Given the description of an element on the screen output the (x, y) to click on. 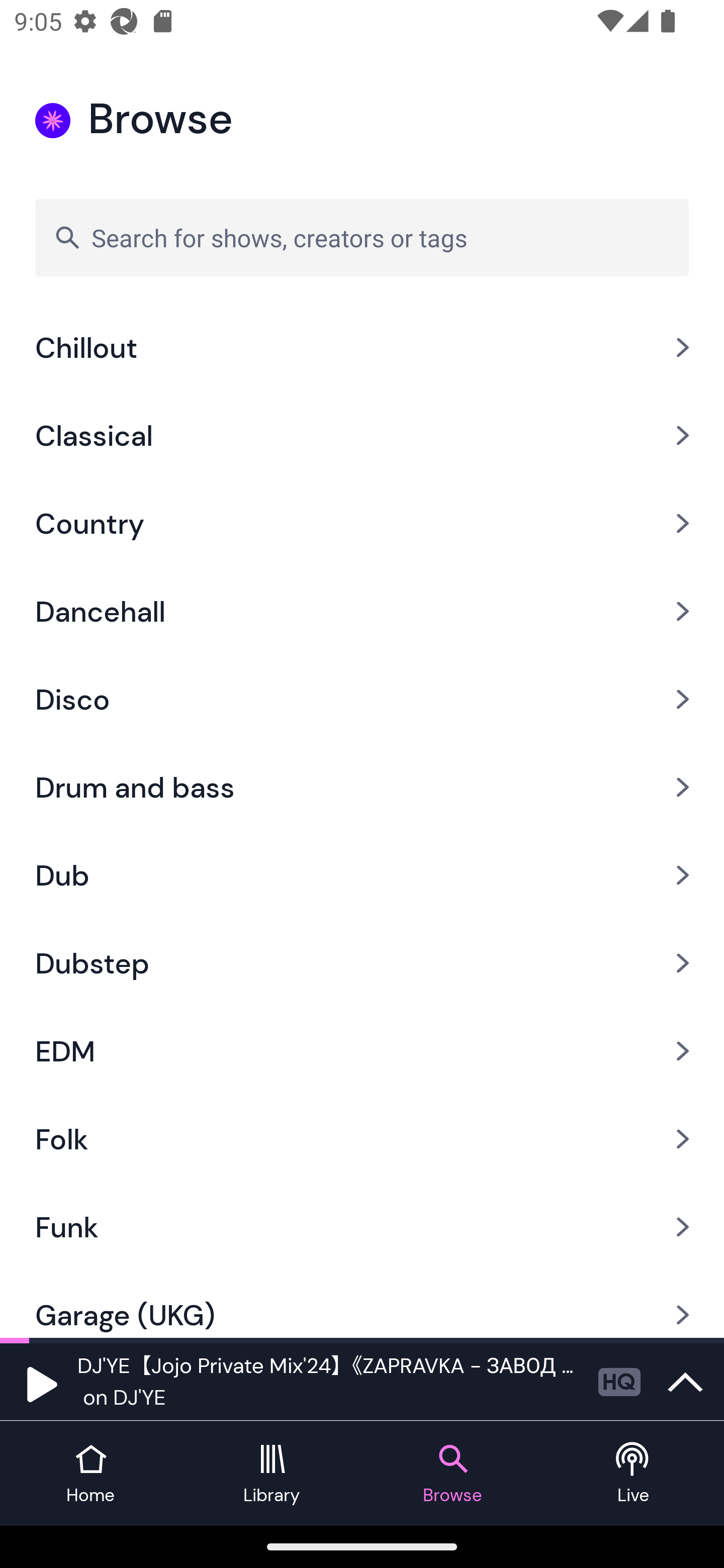
Search for shows, creators or tags (361, 237)
Blues (361, 303)
Chillout (361, 348)
Classical (361, 435)
Country (361, 523)
Dancehall (361, 611)
Disco (361, 699)
Drum and bass (361, 787)
Dub (361, 874)
Dubstep (361, 962)
EDM (361, 1050)
Folk (361, 1138)
Funk (361, 1226)
Garage (UKG) (361, 1304)
Home tab Home (90, 1473)
Library tab Library (271, 1473)
Browse tab Browse (452, 1473)
Live tab Live (633, 1473)
